Given the description of an element on the screen output the (x, y) to click on. 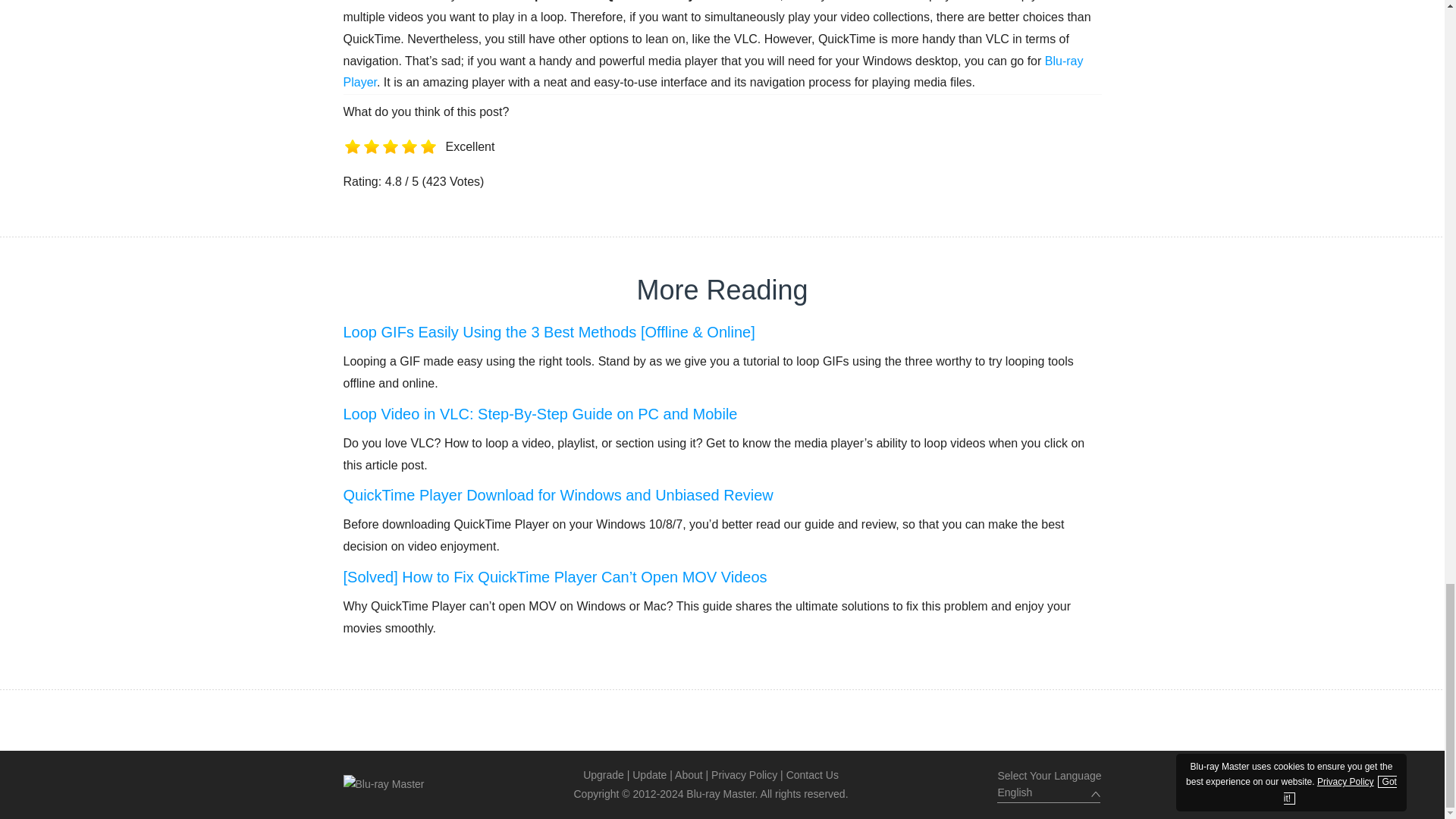
Blu-ray Player (712, 71)
1 (351, 164)
4 (409, 164)
2 (371, 164)
3 (389, 164)
